Given the description of an element on the screen output the (x, y) to click on. 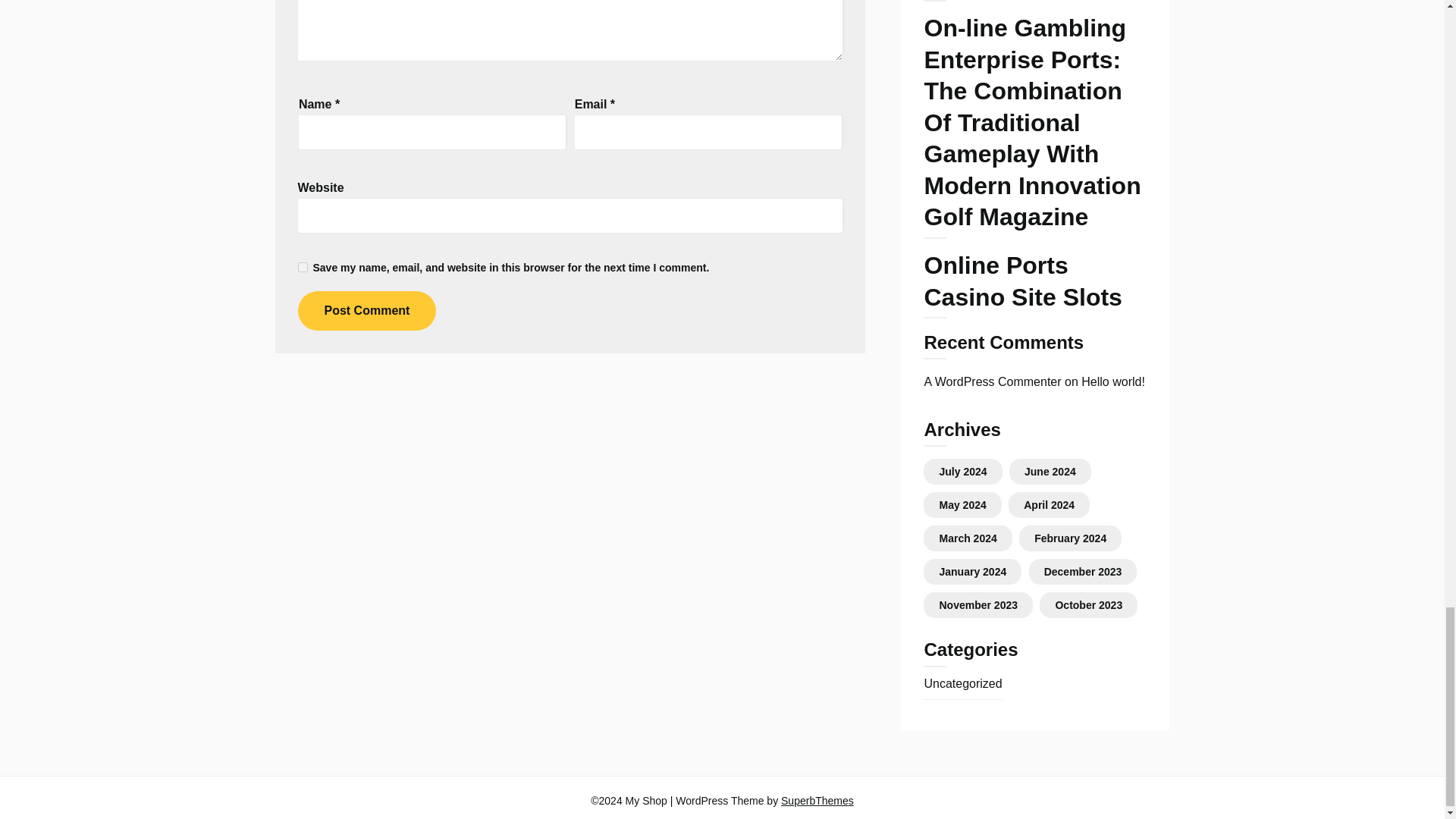
yes (302, 266)
Post Comment (366, 310)
Post Comment (366, 310)
